Given the description of an element on the screen output the (x, y) to click on. 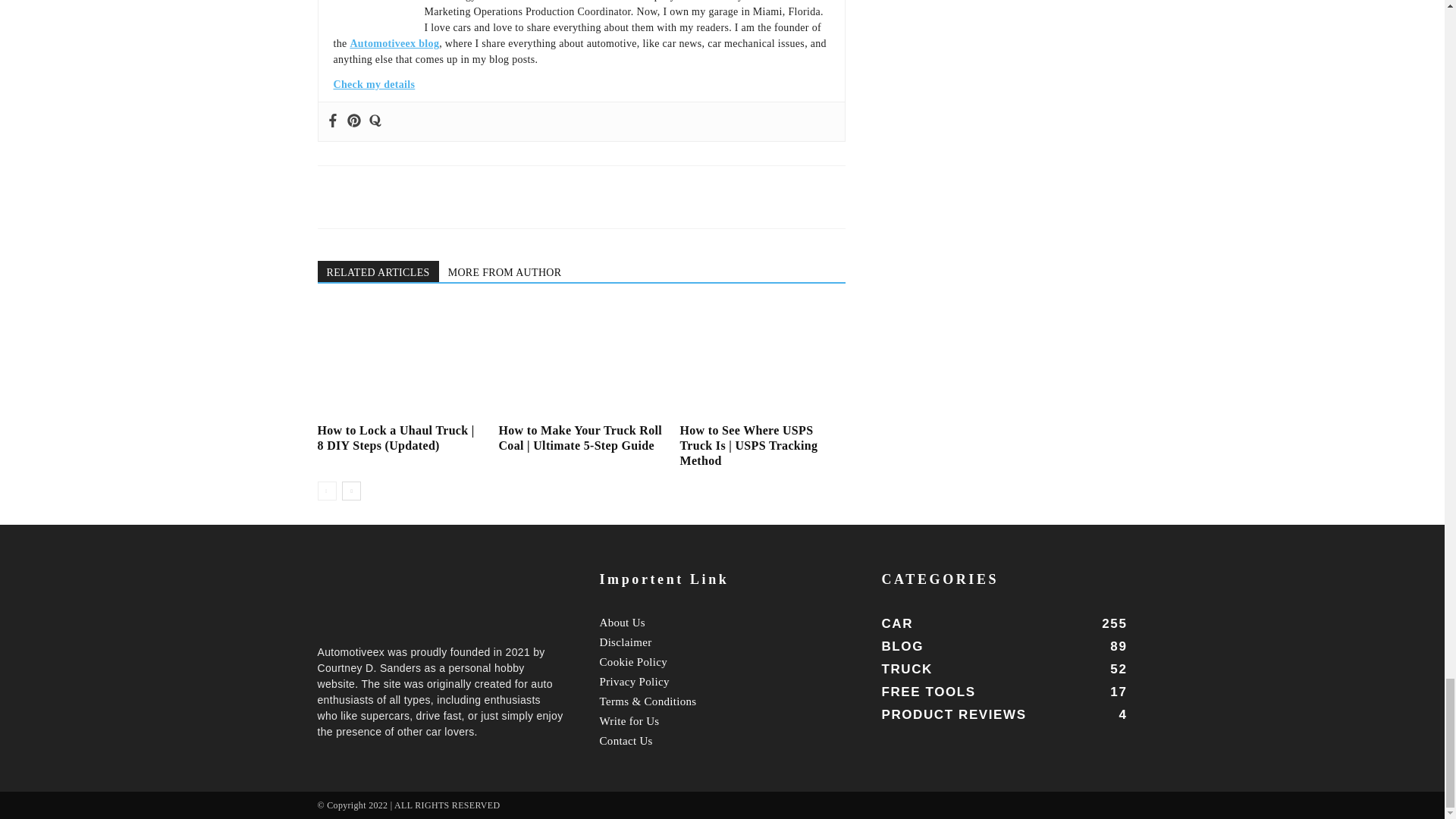
RELATED ARTICLES (377, 271)
Automotiveex blog (394, 43)
Check my details (373, 84)
MORE FROM AUTHOR (504, 271)
